Given the description of an element on the screen output the (x, y) to click on. 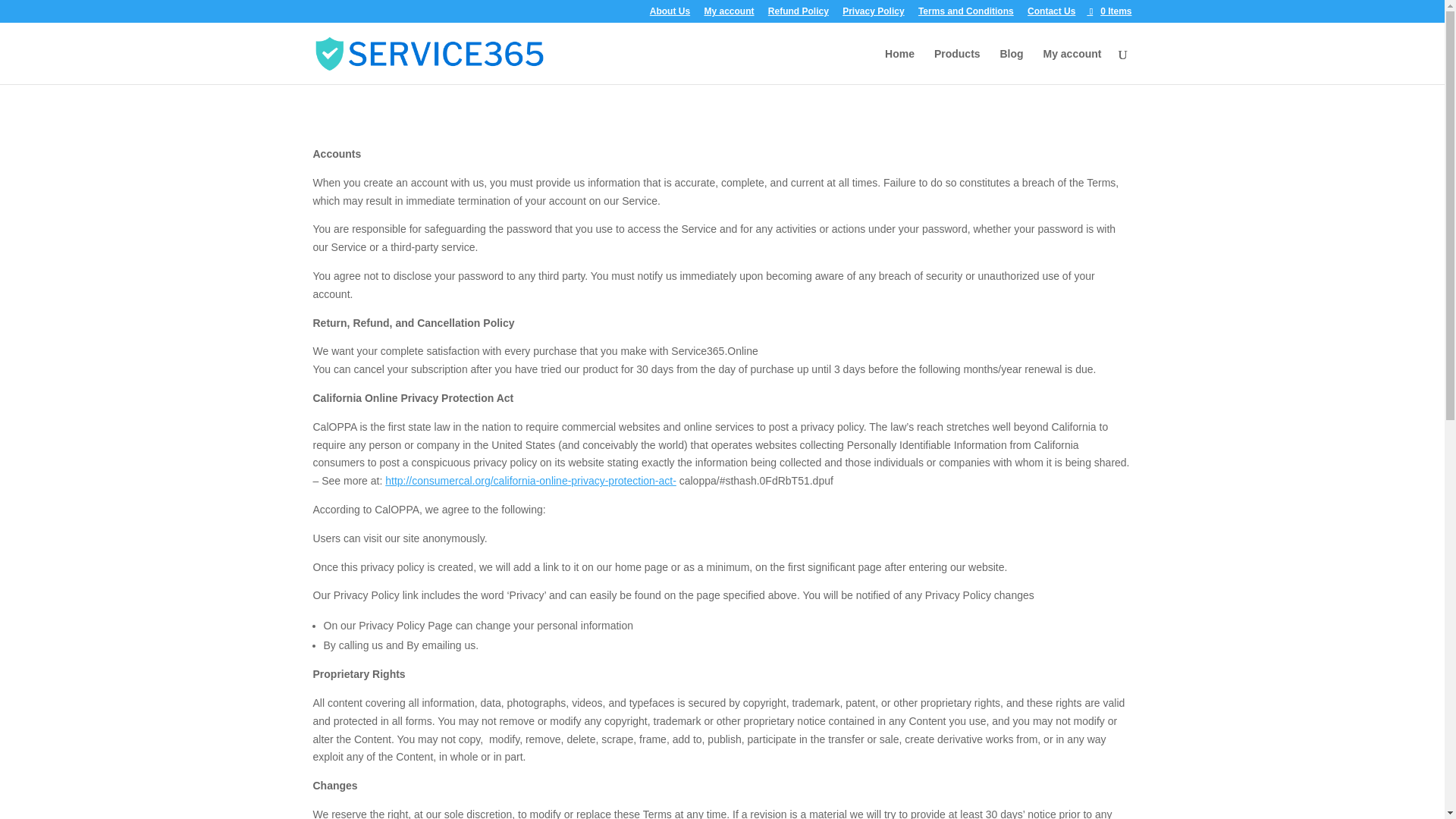
Privacy Policy (873, 14)
0 Items (1108, 10)
Blog (1010, 66)
My account (1071, 66)
Refund Policy (798, 14)
Products (956, 66)
Home (899, 66)
My account (728, 14)
Terms and Conditions (965, 14)
Contact Us (1051, 14)
About Us (669, 14)
